Given the description of an element on the screen output the (x, y) to click on. 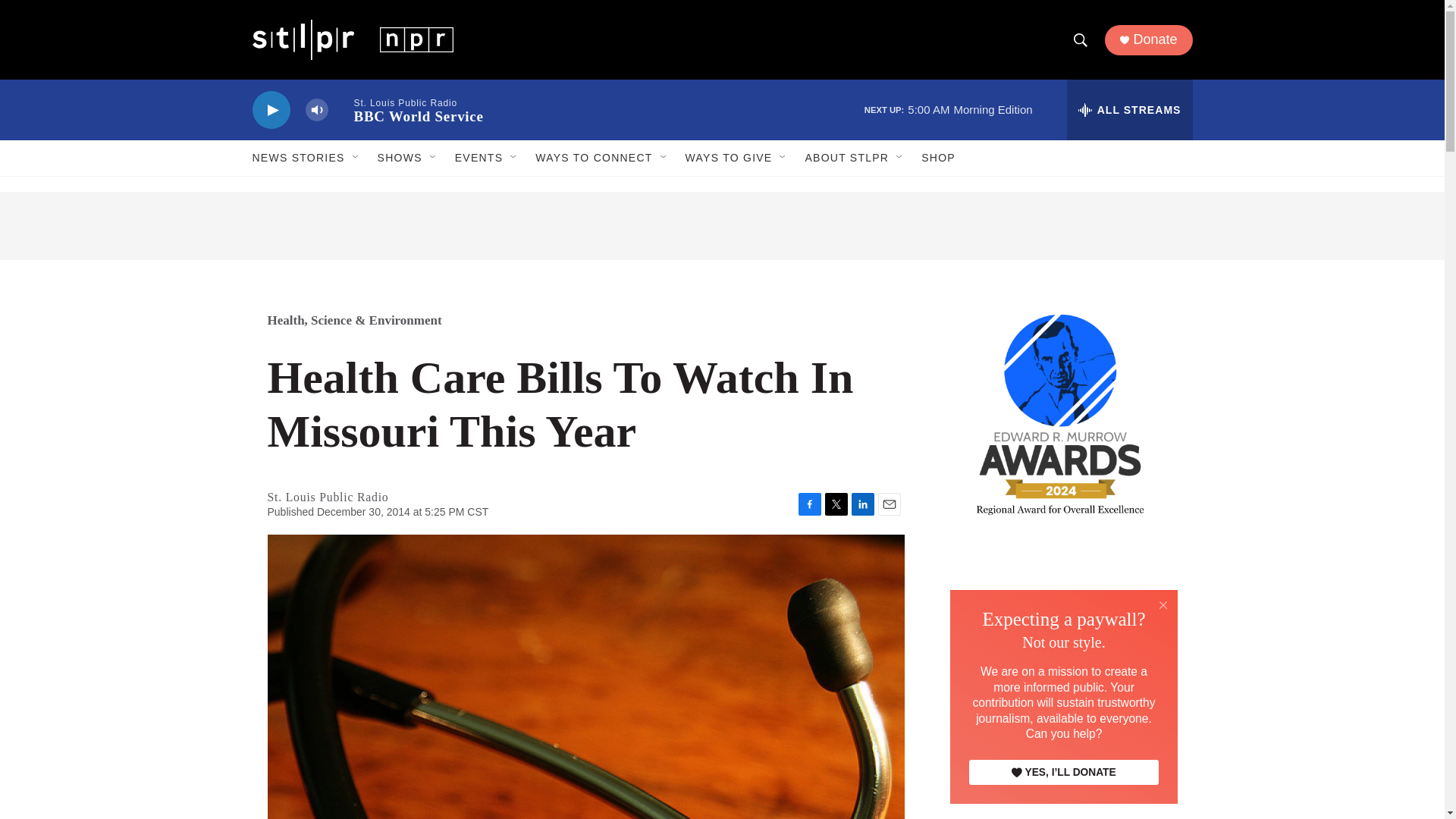
3rd party ad content (1062, 797)
3rd party ad content (721, 225)
Close (1162, 604)
3rd party ad content (1062, 650)
Close (1162, 605)
